Given the description of an element on the screen output the (x, y) to click on. 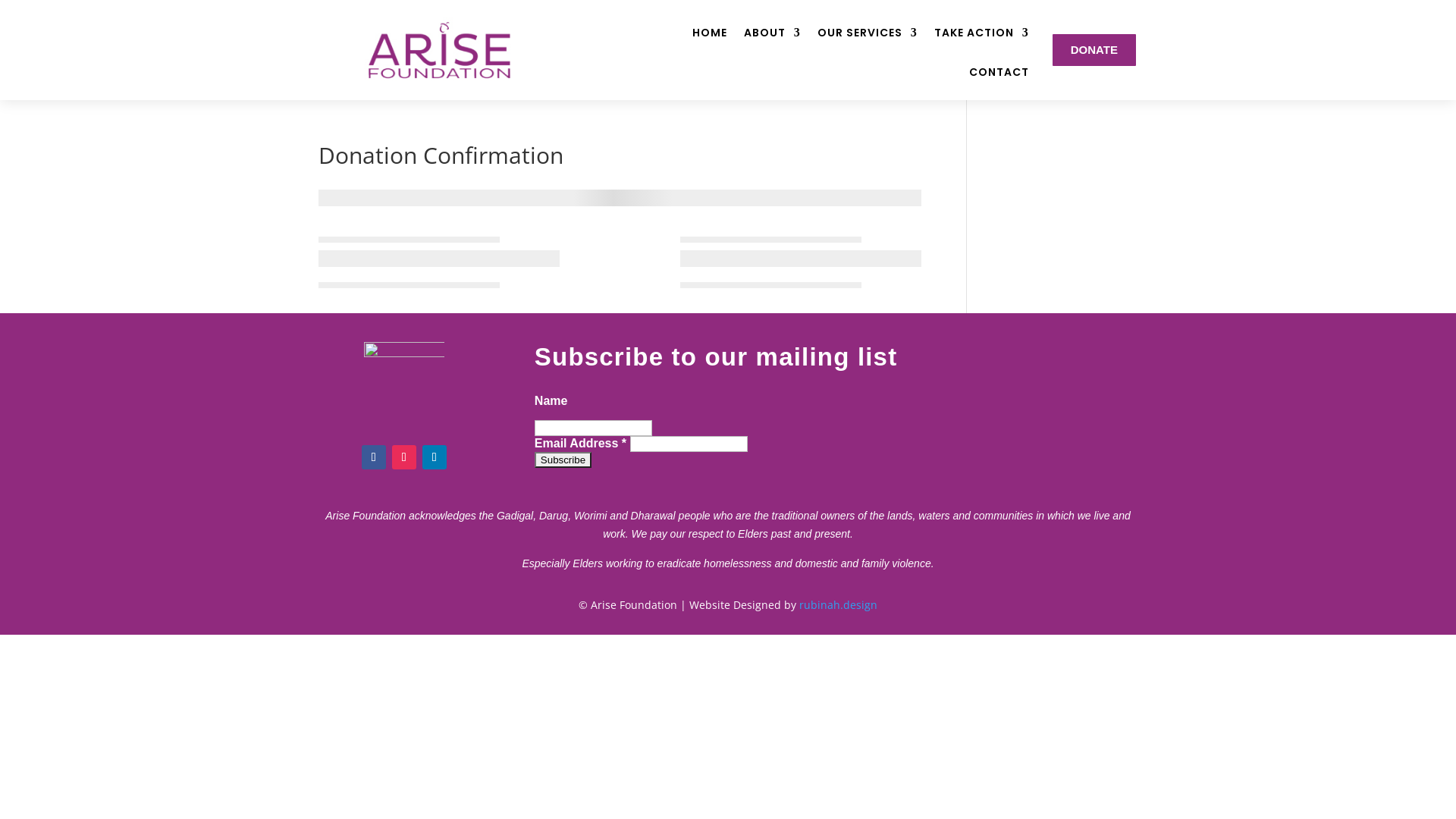
Follow on LinkedIn Element type: hover (434, 457)
OUR SERVICES Element type: text (867, 43)
Subscribe Element type: text (562, 459)
CONTACT Element type: text (999, 83)
Follow on Facebook Element type: hover (373, 457)
ACNC-Registered-Charity Element type: hover (404, 382)
TAKE ACTION Element type: text (981, 43)
rubinah.design Element type: text (838, 604)
HOME Element type: text (709, 43)
Follow on Instagram Element type: hover (404, 457)
ABOUT Element type: text (771, 43)
LogoSmall Element type: hover (439, 49)
DONATE Element type: text (1094, 49)
